Given the description of an element on the screen output the (x, y) to click on. 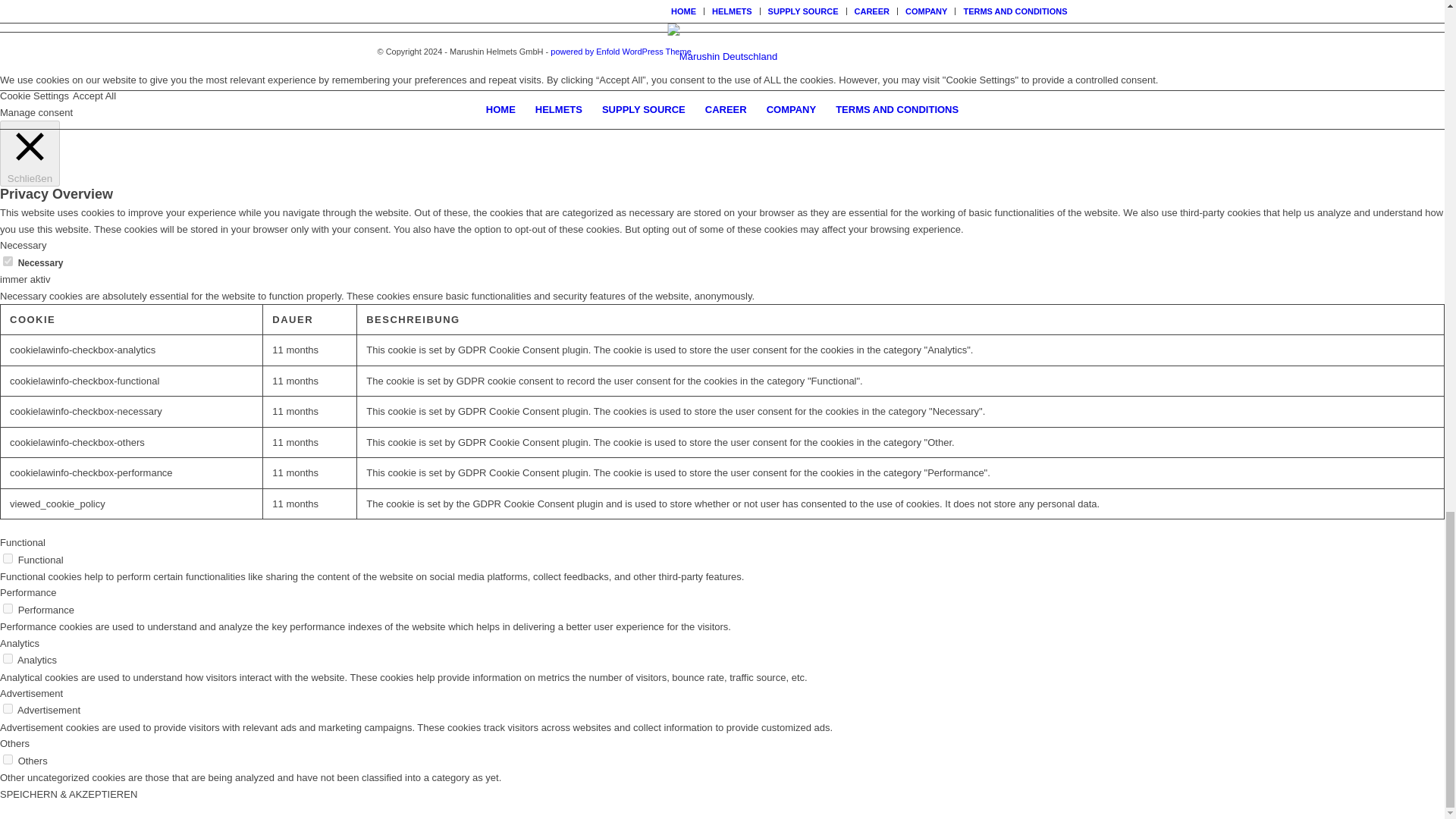
on (7, 608)
on (7, 708)
on (7, 658)
on (7, 558)
on (7, 759)
on (7, 261)
